Given the description of an element on the screen output the (x, y) to click on. 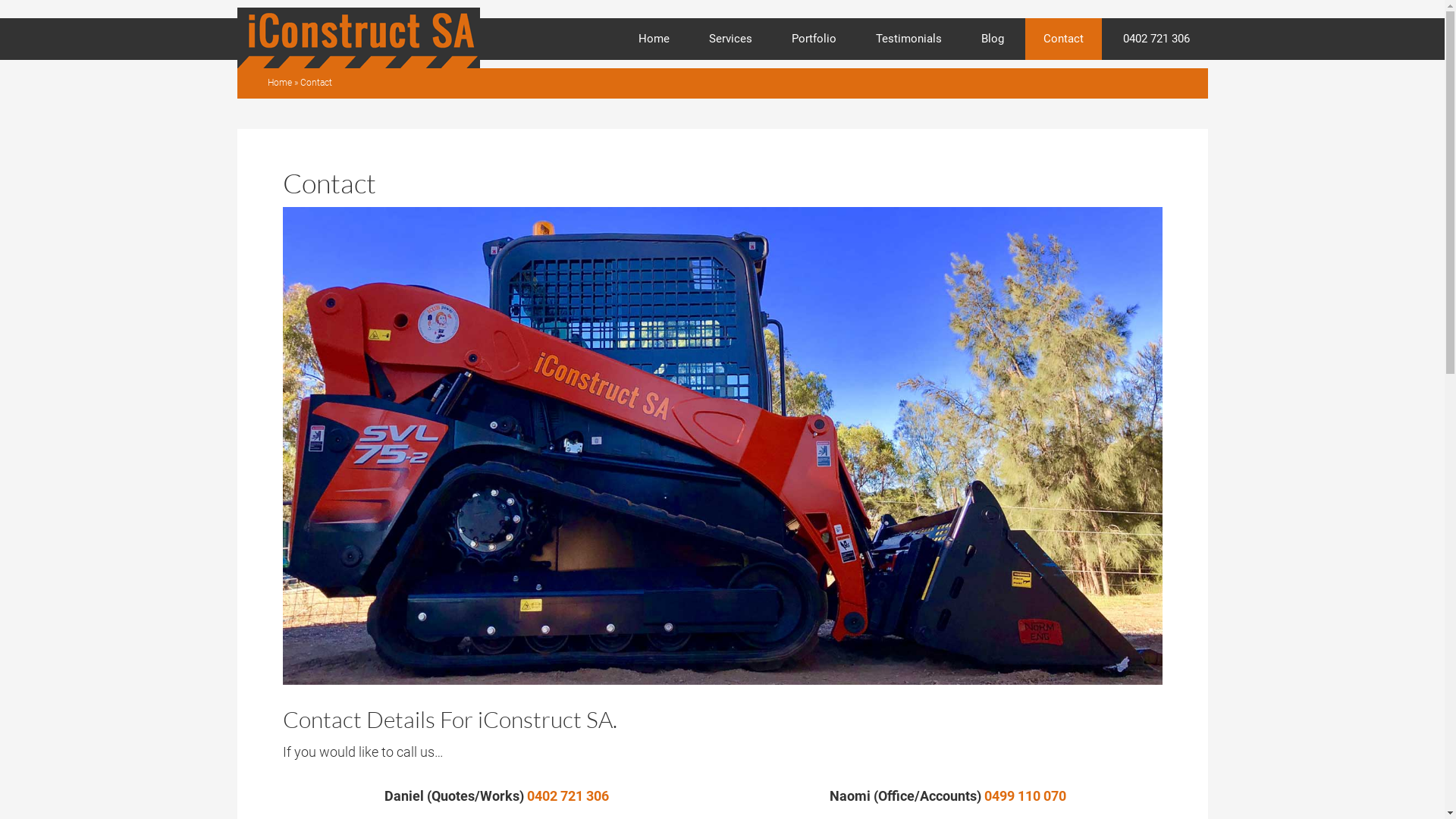
0402 721 306 Element type: text (567, 795)
Blog Element type: text (992, 38)
Contact Element type: text (1063, 38)
Portfolio Element type: text (813, 38)
0499 110 070 Element type: text (1025, 795)
Testimonials Element type: text (907, 38)
Skip to primary navigation Element type: text (0, 0)
Services Element type: text (729, 38)
0402 721 306 Element type: text (1155, 38)
Home Element type: text (278, 82)
https://iconstructsa.com.au Element type: text (372, 69)
Home Element type: text (653, 38)
